Given the description of an element on the screen output the (x, y) to click on. 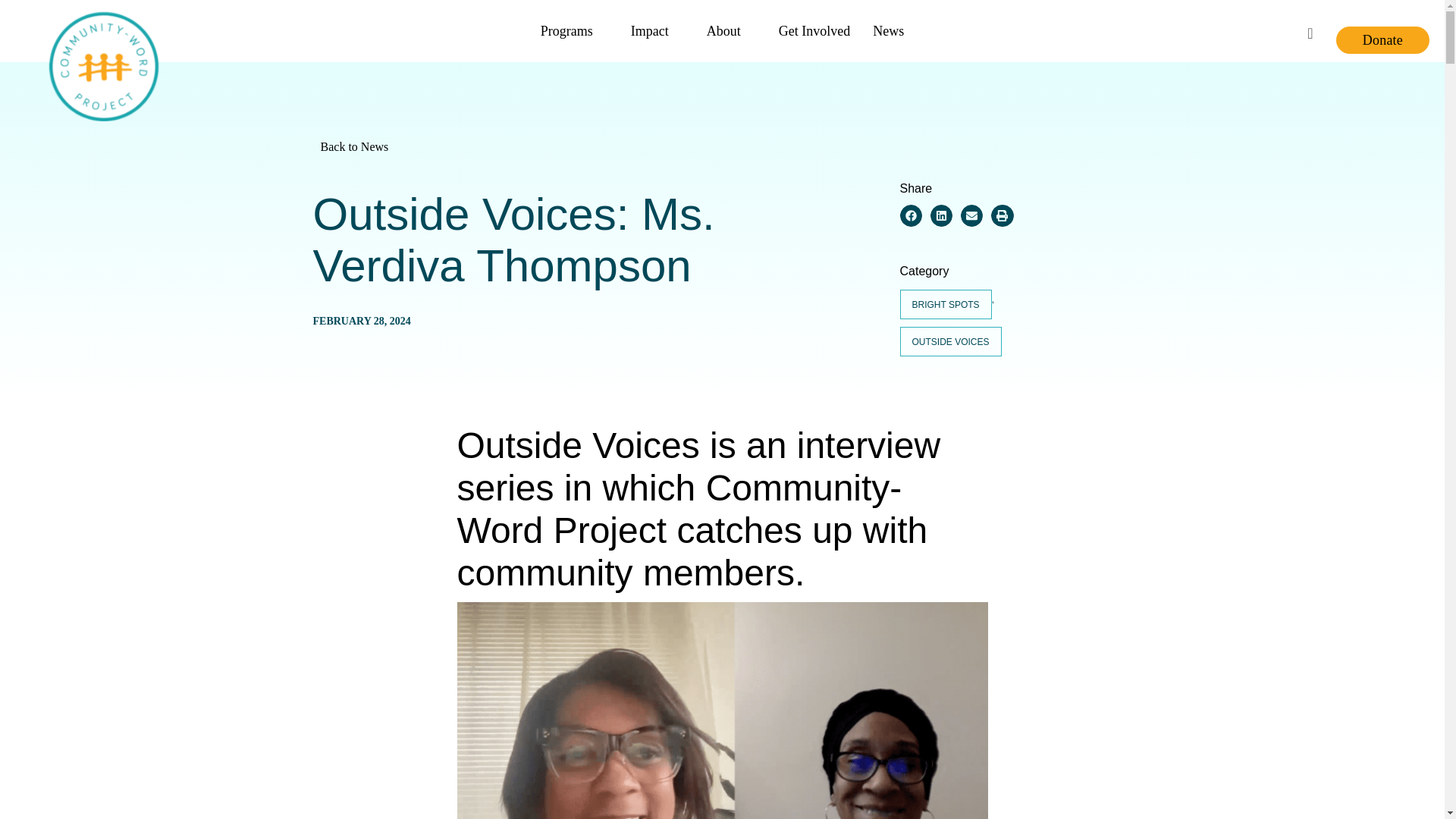
Search this site (1310, 31)
Go to Community-Word Project Home. (103, 30)
Donate (1382, 40)
Search (1310, 31)
Impact (657, 31)
Programs (574, 31)
Back to News (725, 145)
About (731, 31)
Get Involved (814, 31)
